Given the description of an element on the screen output the (x, y) to click on. 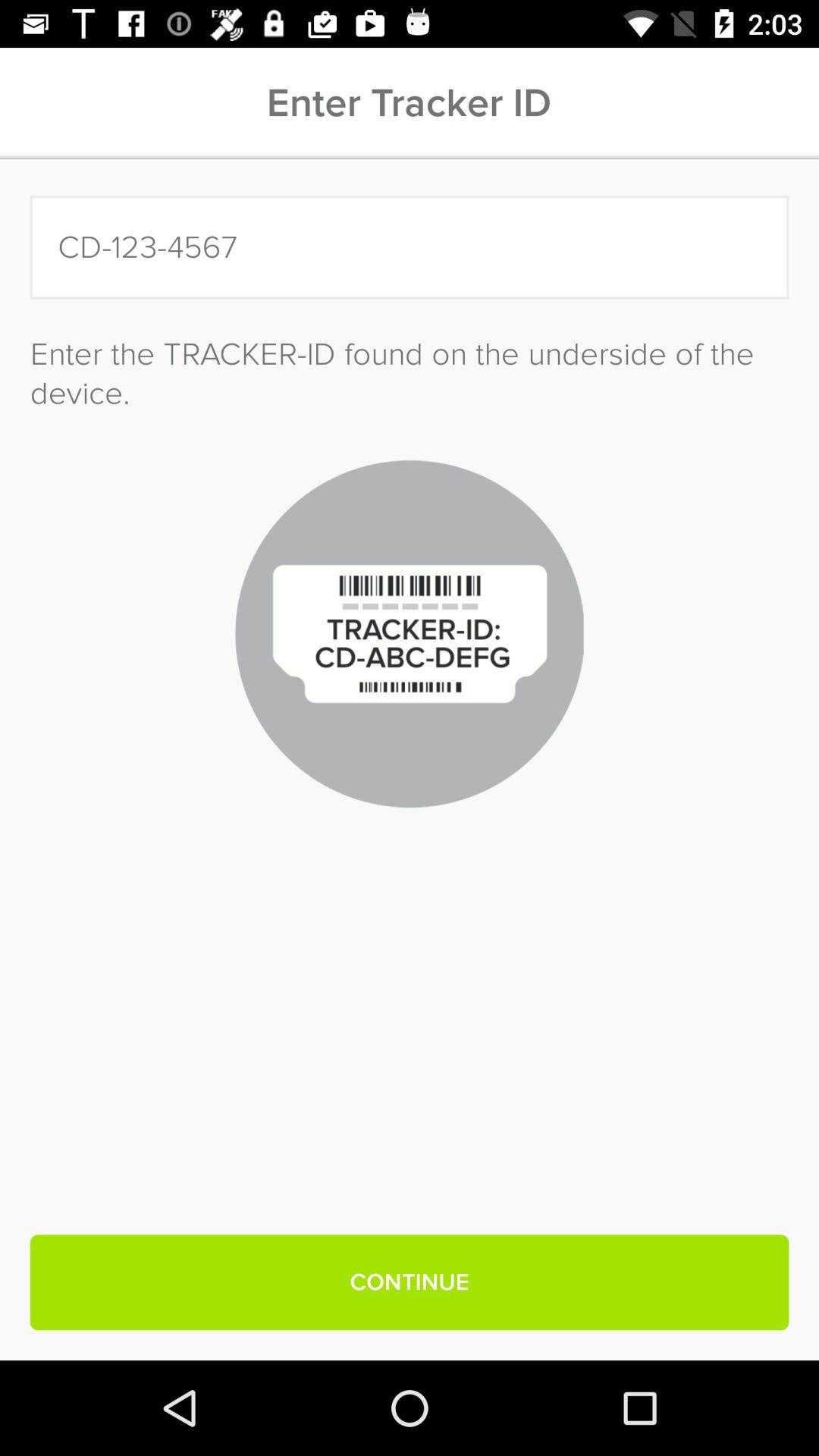
download this tracker id (409, 247)
